Given the description of an element on the screen output the (x, y) to click on. 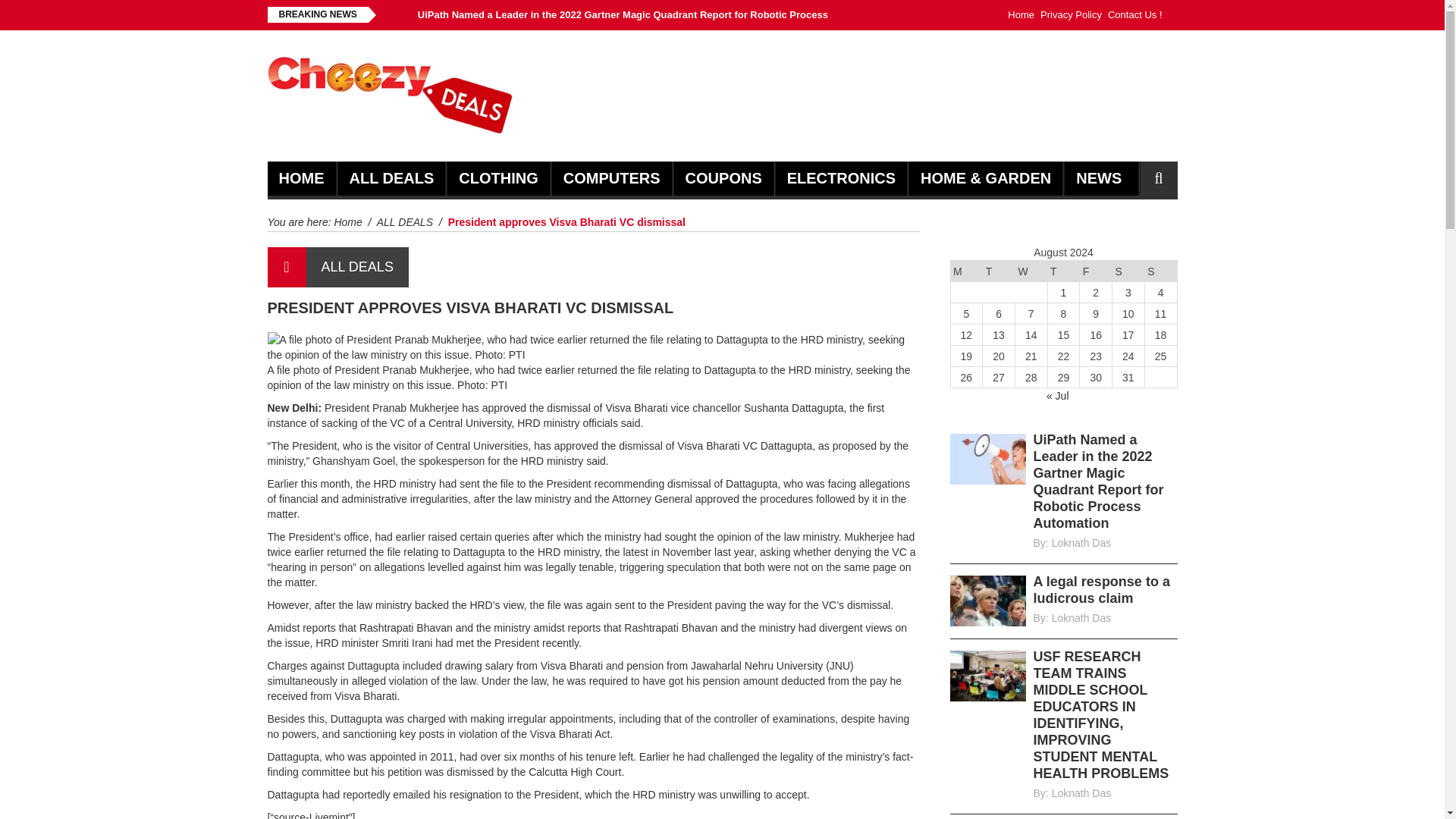
NEWS (1098, 178)
ALL DEALS (404, 222)
ELECTRONICS (841, 178)
Posts by Loknath Das (1081, 793)
Posts by Loknath Das (1081, 542)
Privacy Policy (1071, 15)
Saturday (1128, 271)
COMPUTERS (612, 178)
Posts by Loknath Das (1081, 617)
COUPONS (723, 178)
